Given the description of an element on the screen output the (x, y) to click on. 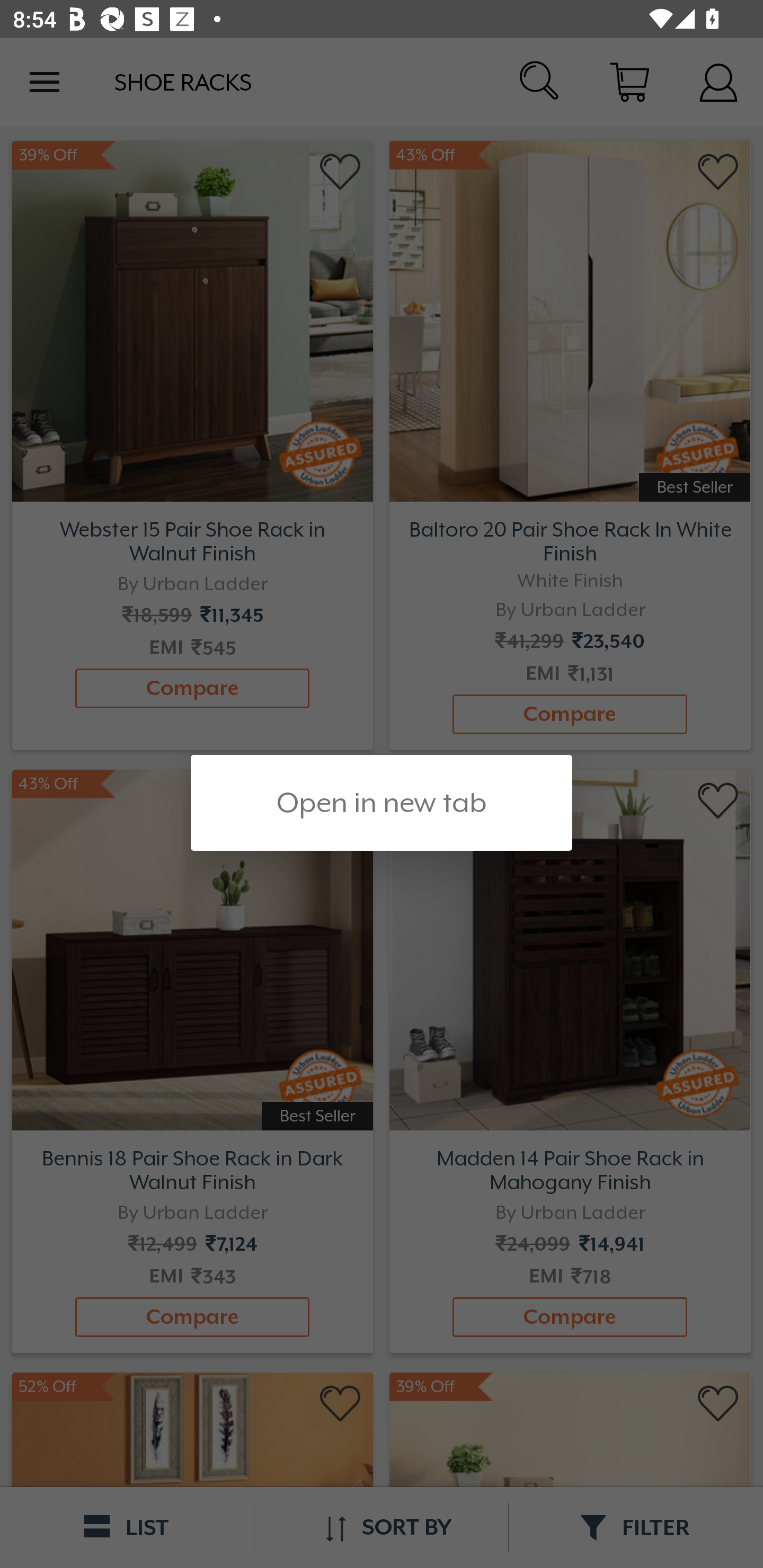
Open in new tab (381, 802)
